Given the description of an element on the screen output the (x, y) to click on. 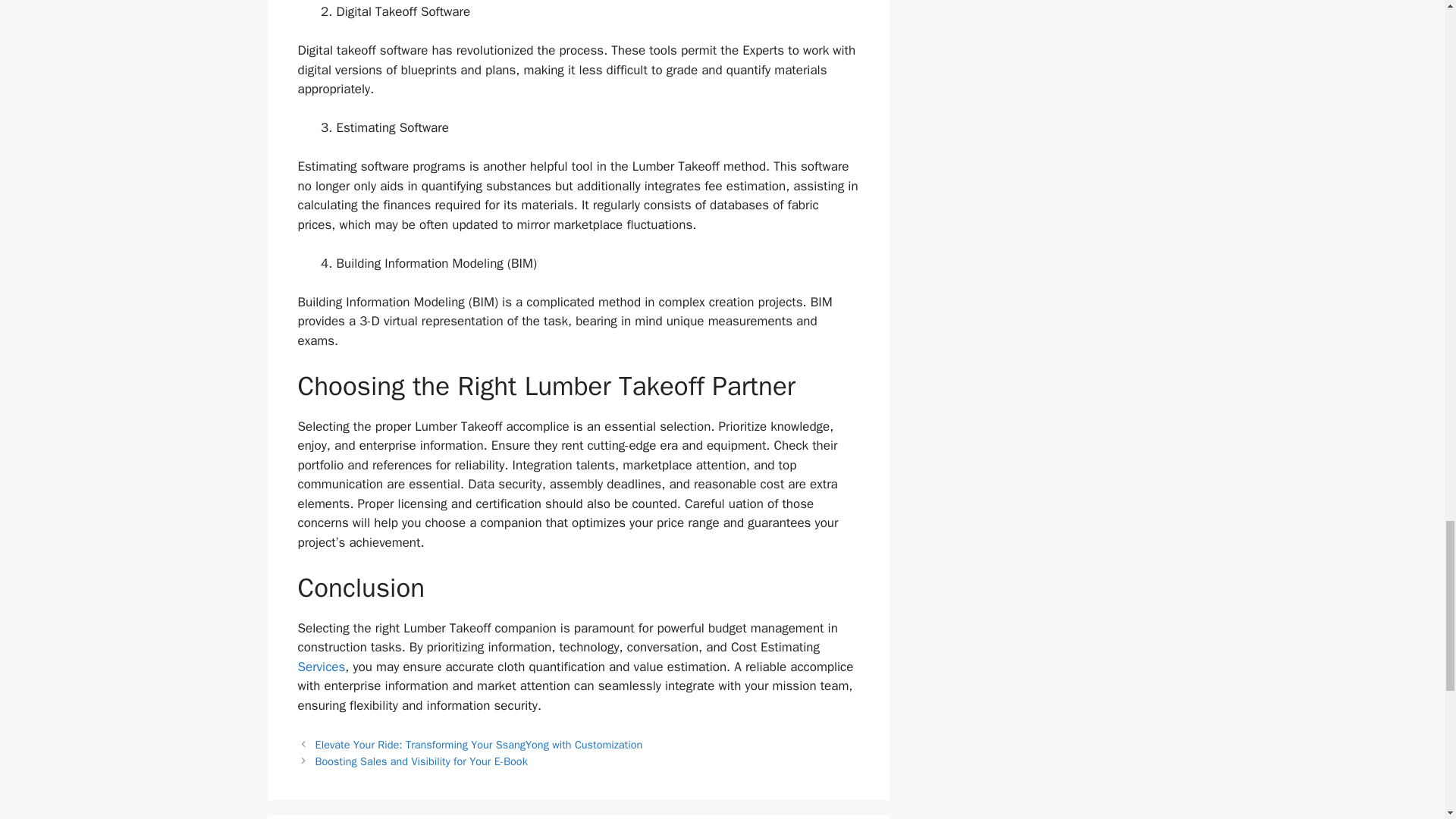
Services (321, 666)
Boosting Sales and Visibility for Your E-Book (421, 761)
